Given the description of an element on the screen output the (x, y) to click on. 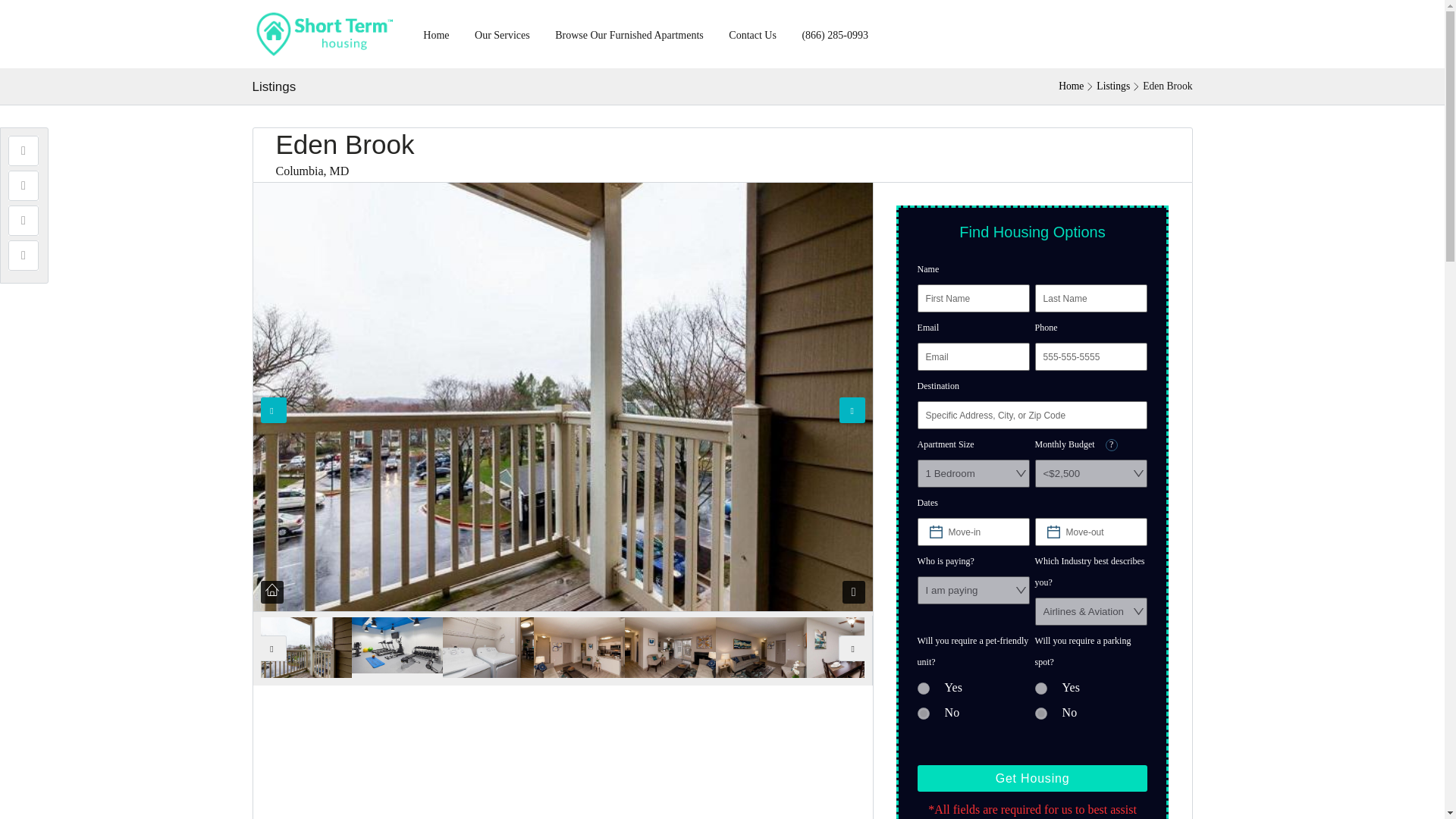
Contact Us (752, 33)
YES (923, 688)
Our Services (502, 33)
Previous (273, 647)
Previous (273, 410)
Browse Our Furnished Apartments (628, 33)
Listings (1112, 86)
NO (923, 713)
NO (1040, 713)
YES (1040, 688)
Home (1070, 86)
Get Housing (1032, 777)
Next (852, 410)
Next (851, 647)
